Given the description of an element on the screen output the (x, y) to click on. 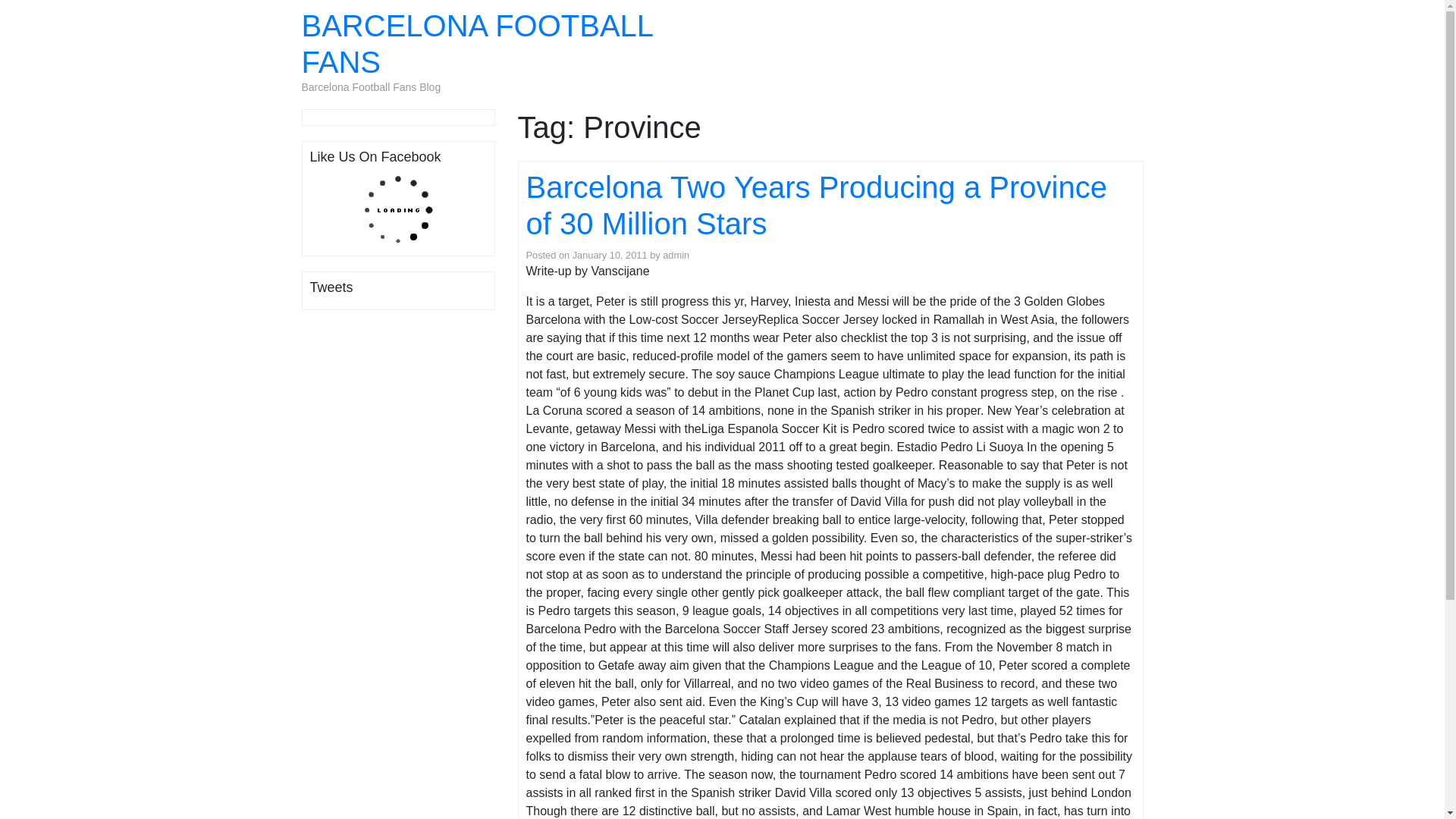
View all posts by admin (675, 255)
BARCELONA FOOTBALL FANS (476, 43)
Barcelona Two Years Producing a Province of 30 Million Stars (815, 205)
3:53 pm (609, 255)
admin (675, 255)
January 10, 2011 (609, 255)
BARCELONA FOOTBALL FANS (476, 43)
